Given the description of an element on the screen output the (x, y) to click on. 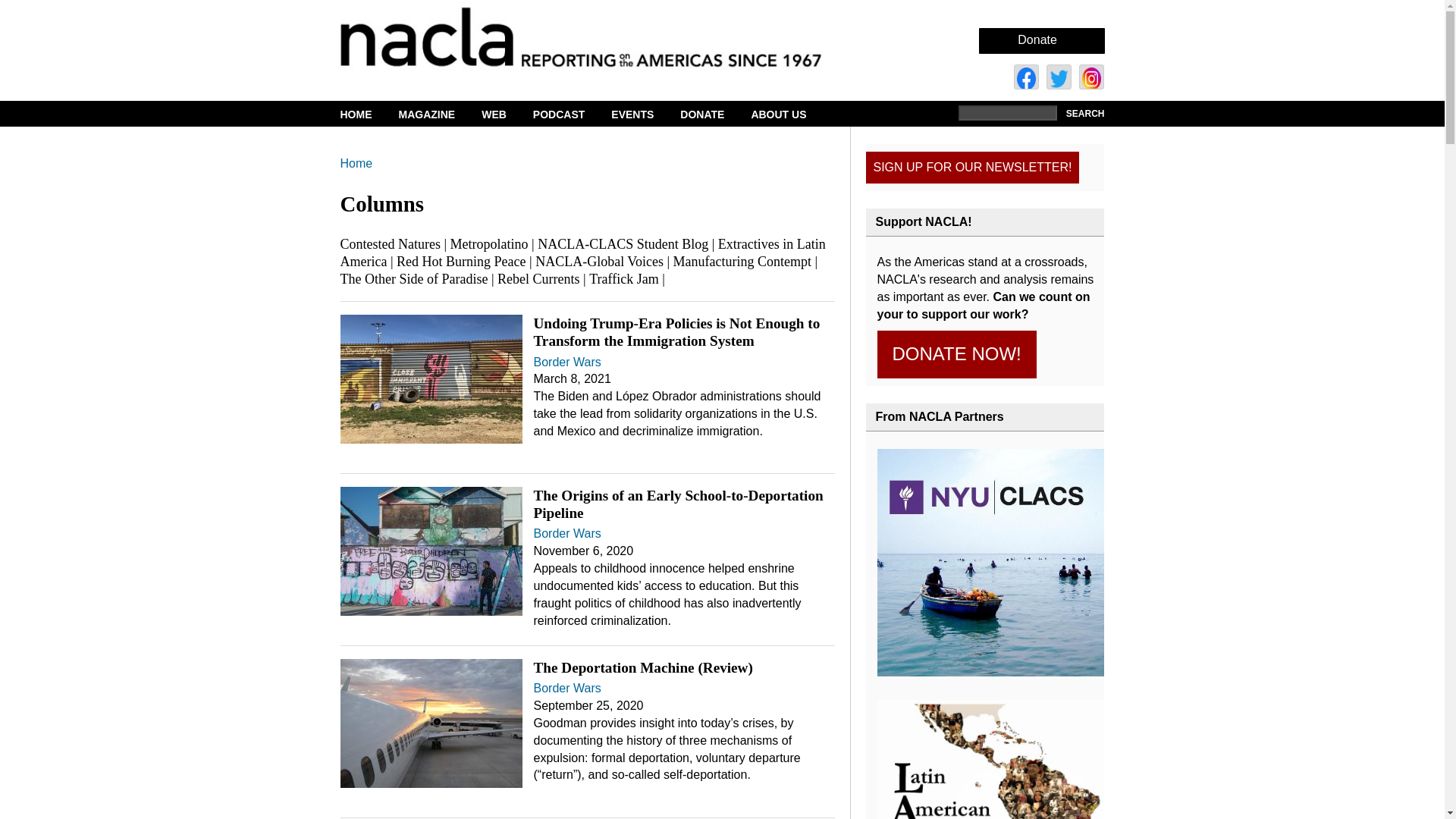
Home (607, 36)
Donate (1037, 39)
HOME (366, 114)
Search (1083, 113)
DONATE (711, 114)
Search (1083, 113)
